Given the description of an element on the screen output the (x, y) to click on. 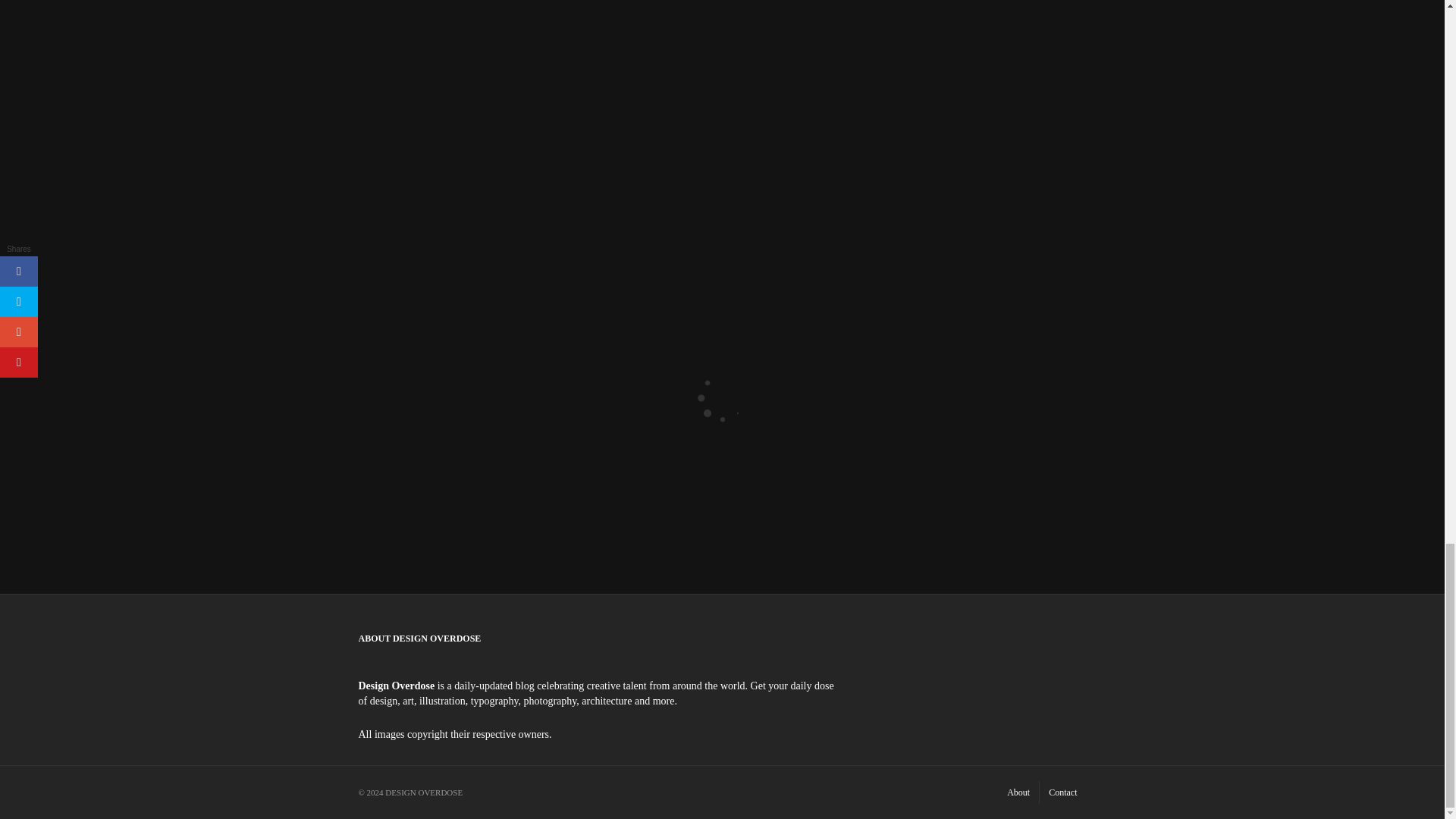
Contact (1062, 792)
About (1018, 792)
